Given the description of an element on the screen output the (x, y) to click on. 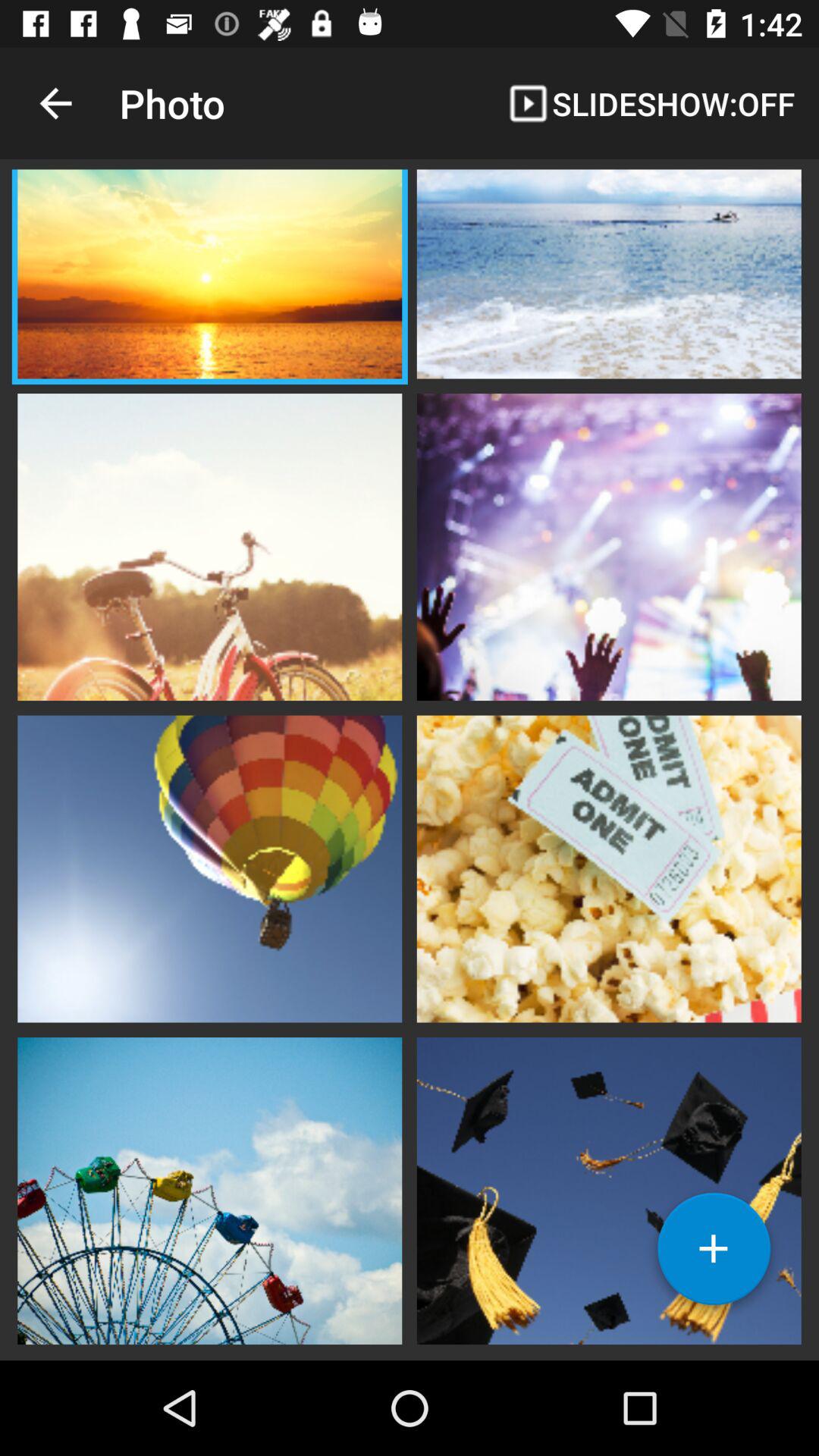
add photograph (713, 1254)
